Given the description of an element on the screen output the (x, y) to click on. 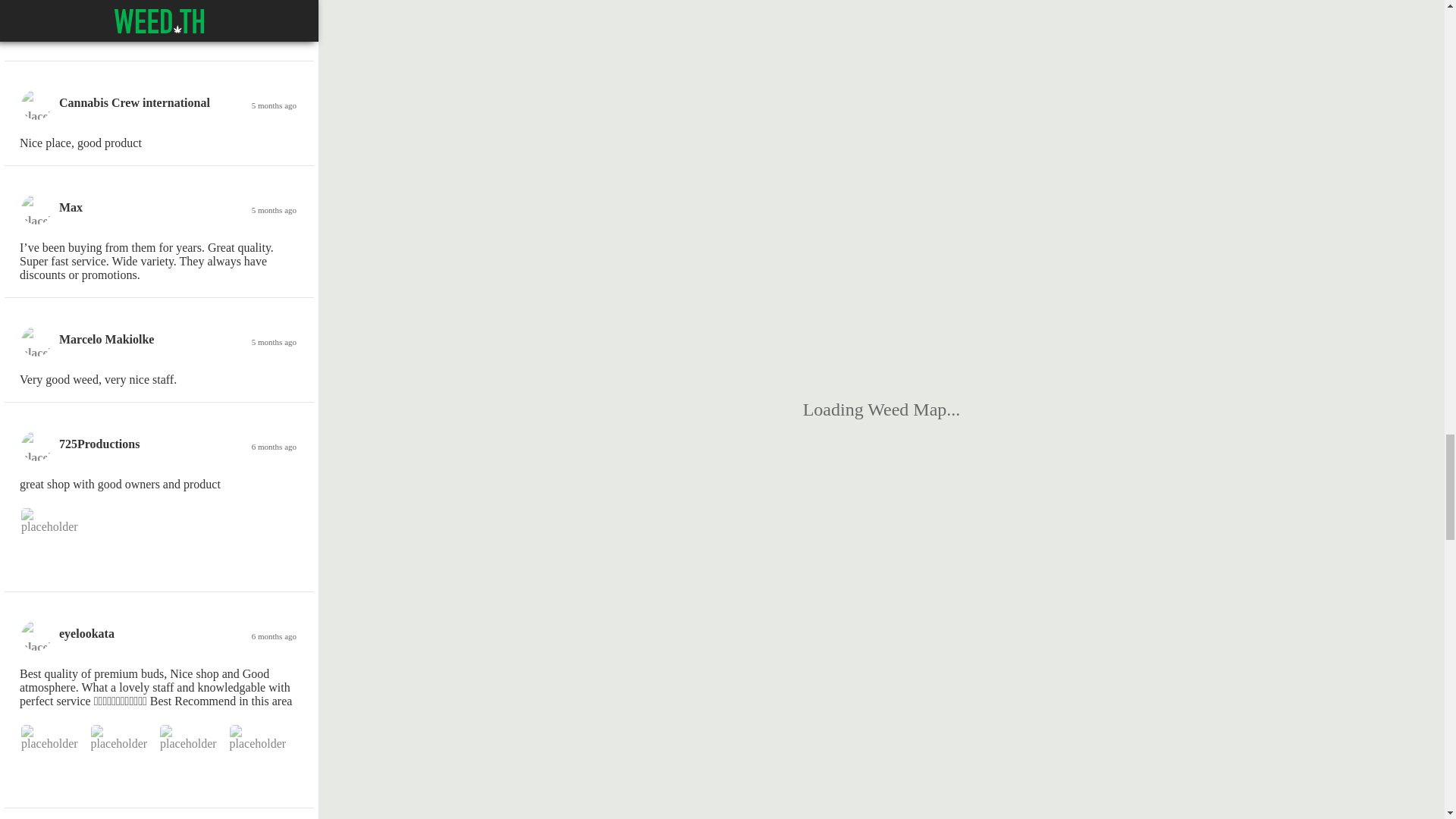
Marcelo Makiolke (106, 338)
eyelookata (87, 633)
Cannabis Crew international (134, 102)
Max (70, 206)
725Productions (99, 443)
